Given the description of an element on the screen output the (x, y) to click on. 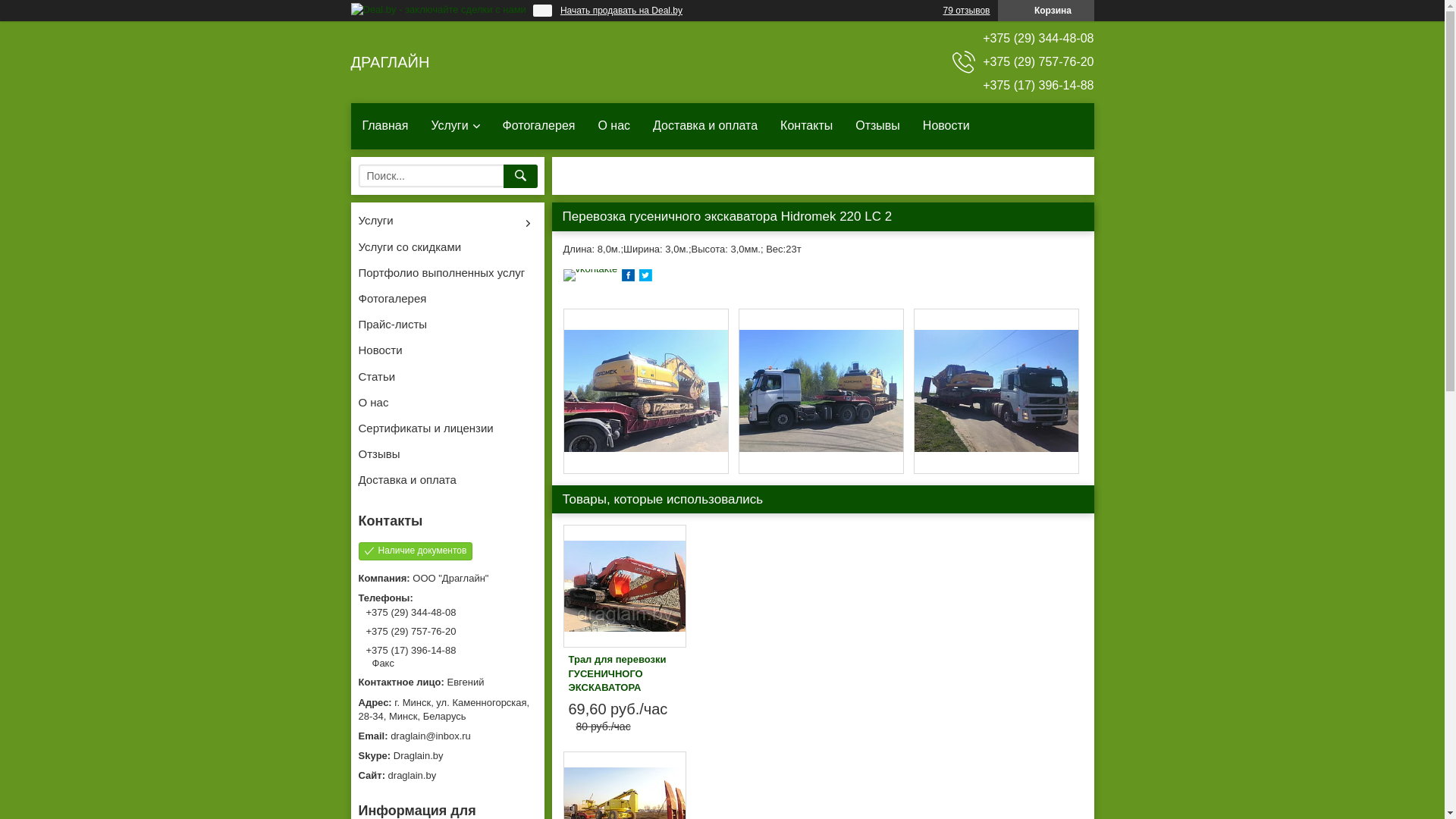
draglain.by Element type: text (446, 775)
facebook Element type: hover (627, 277)
draglain@inbox.ru Element type: text (446, 736)
twitter Element type: hover (645, 277)
